Given the description of an element on the screen output the (x, y) to click on. 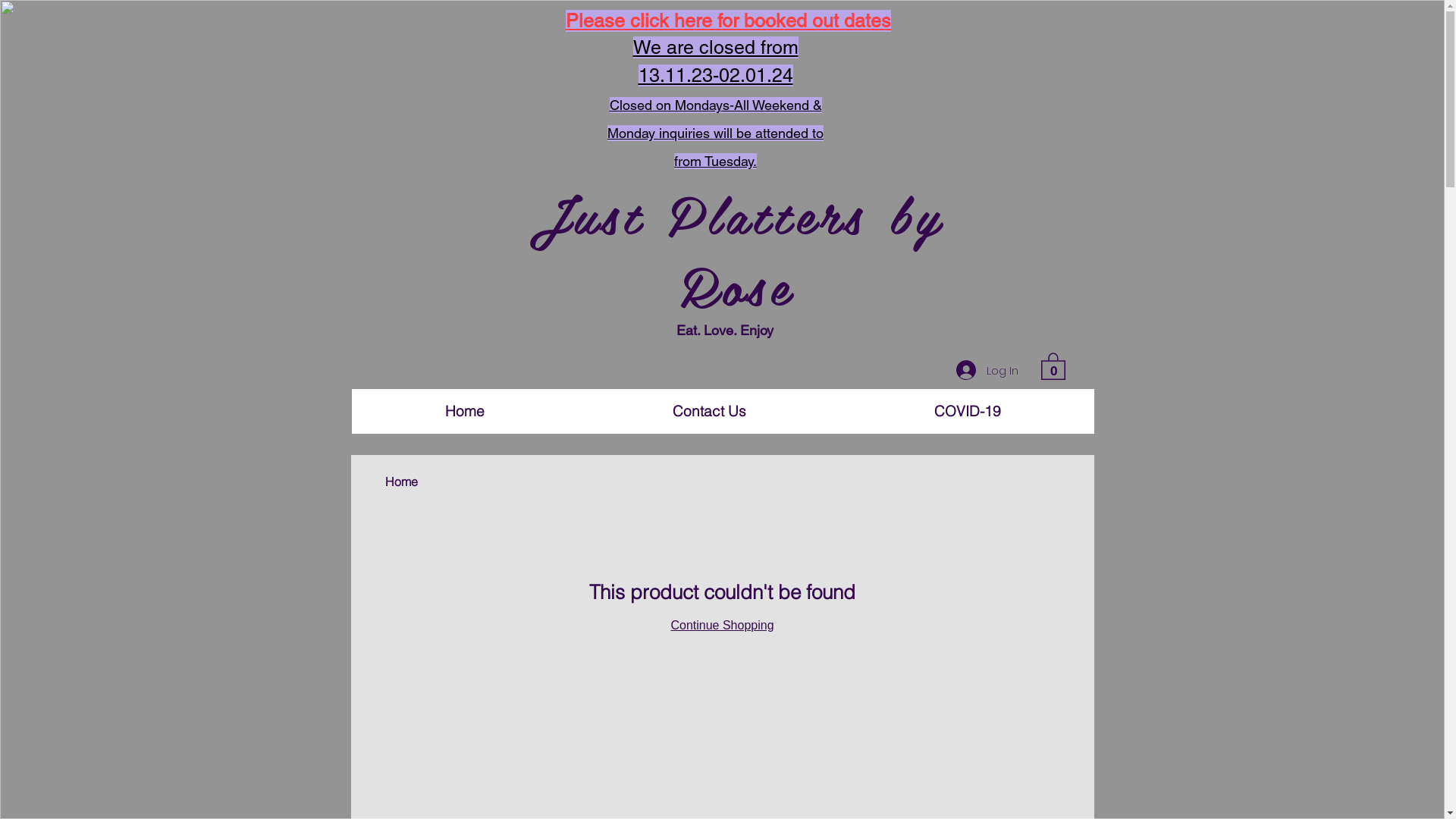
Continue Shopping Element type: text (721, 624)
Please click here for booked out dates Element type: text (728, 20)
COVID-19 Element type: text (967, 411)
0 Element type: text (1052, 365)
Just Platters by
Rose Element type: text (736, 251)
Contact Us Element type: text (708, 411)
Home Element type: text (464, 411)
Log In Element type: text (986, 369)
Home Element type: text (401, 481)
